Given the description of an element on the screen output the (x, y) to click on. 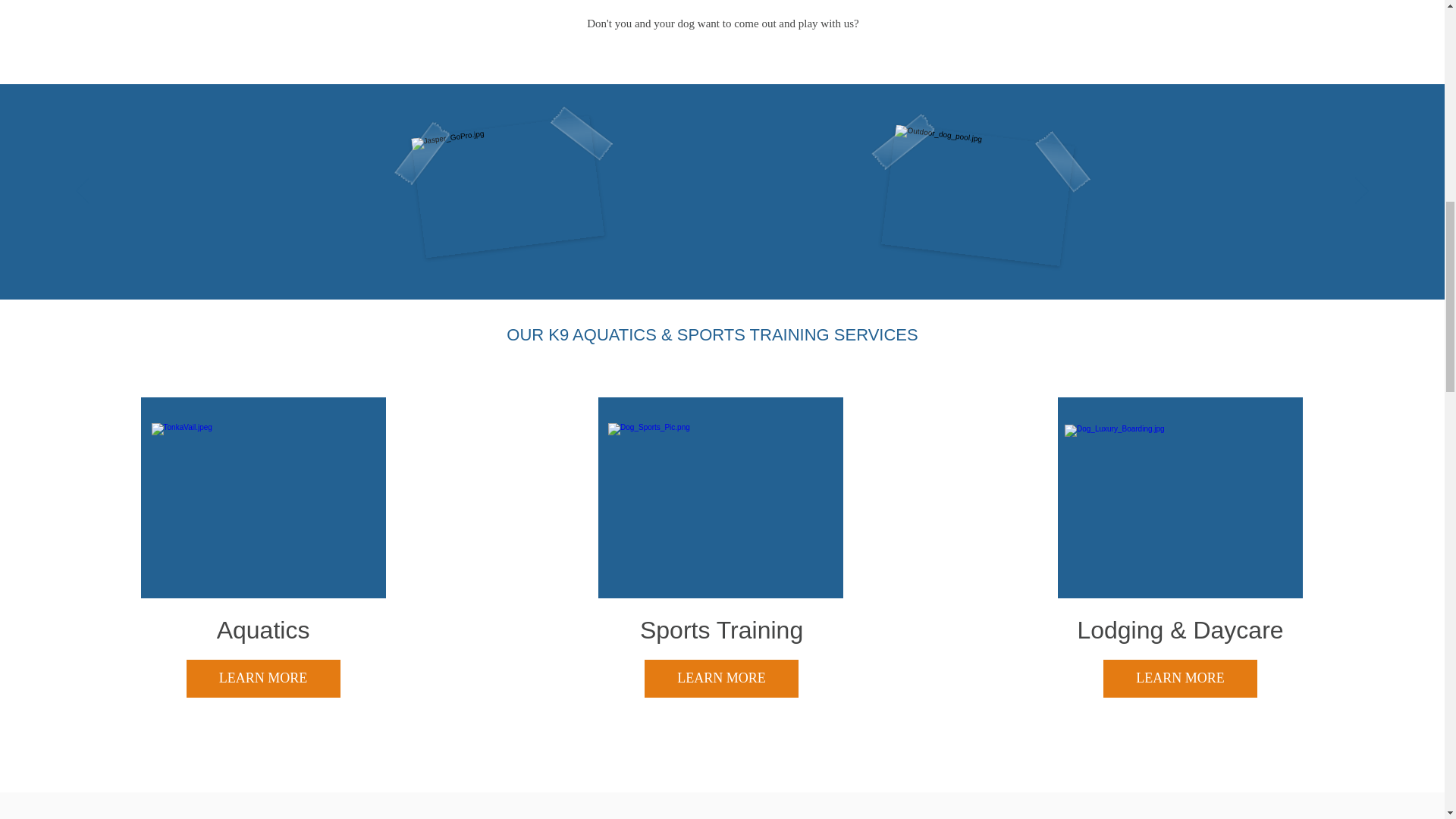
LEARN MORE (721, 678)
Aquatics (263, 629)
Sports Training (721, 629)
LEARN MORE (263, 678)
LEARN MORE (1180, 678)
